Given the description of an element on the screen output the (x, y) to click on. 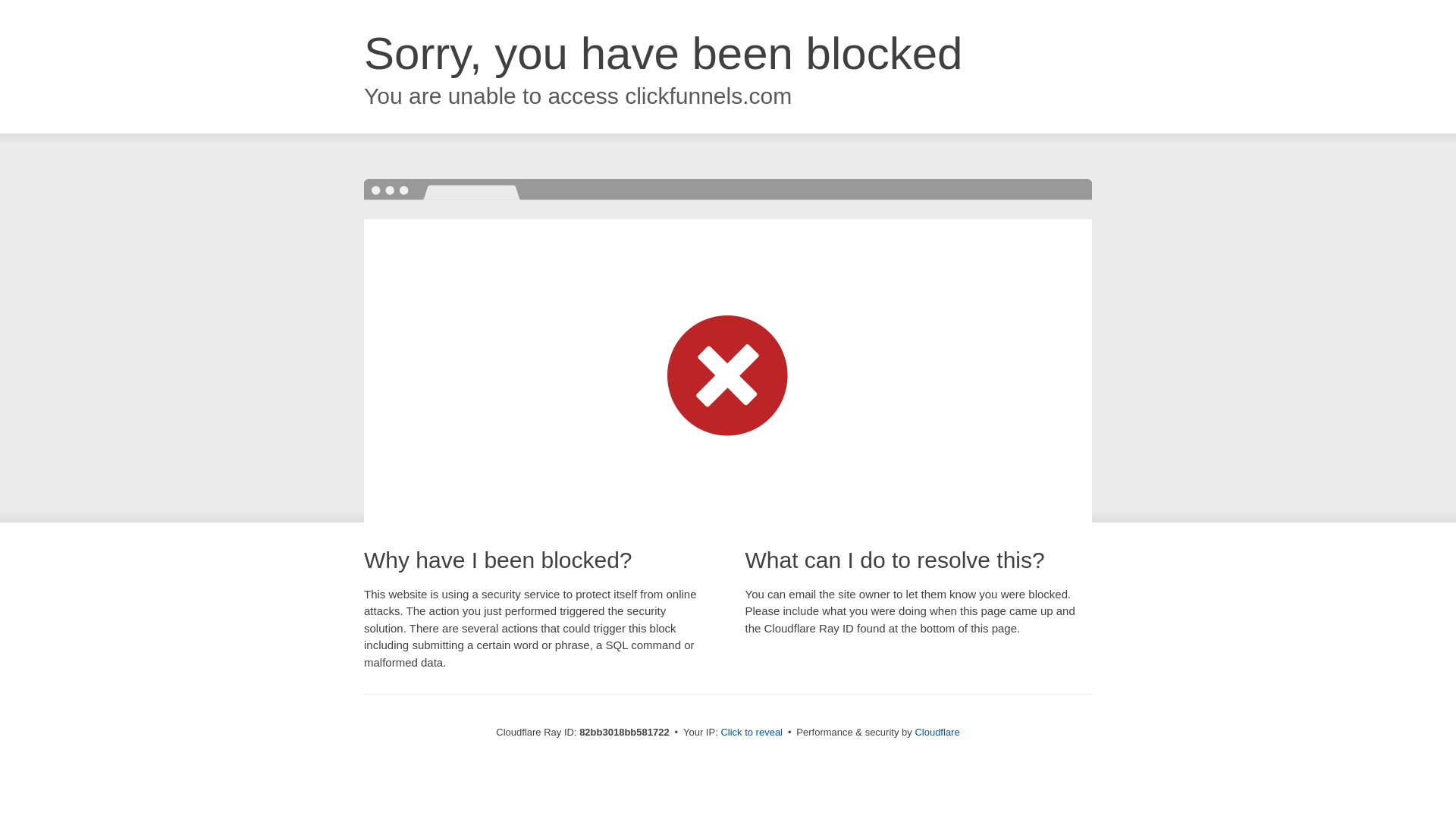
Click to reveal Element type: text (751, 732)
Cloudflare Element type: text (936, 731)
